Given the description of an element on the screen output the (x, y) to click on. 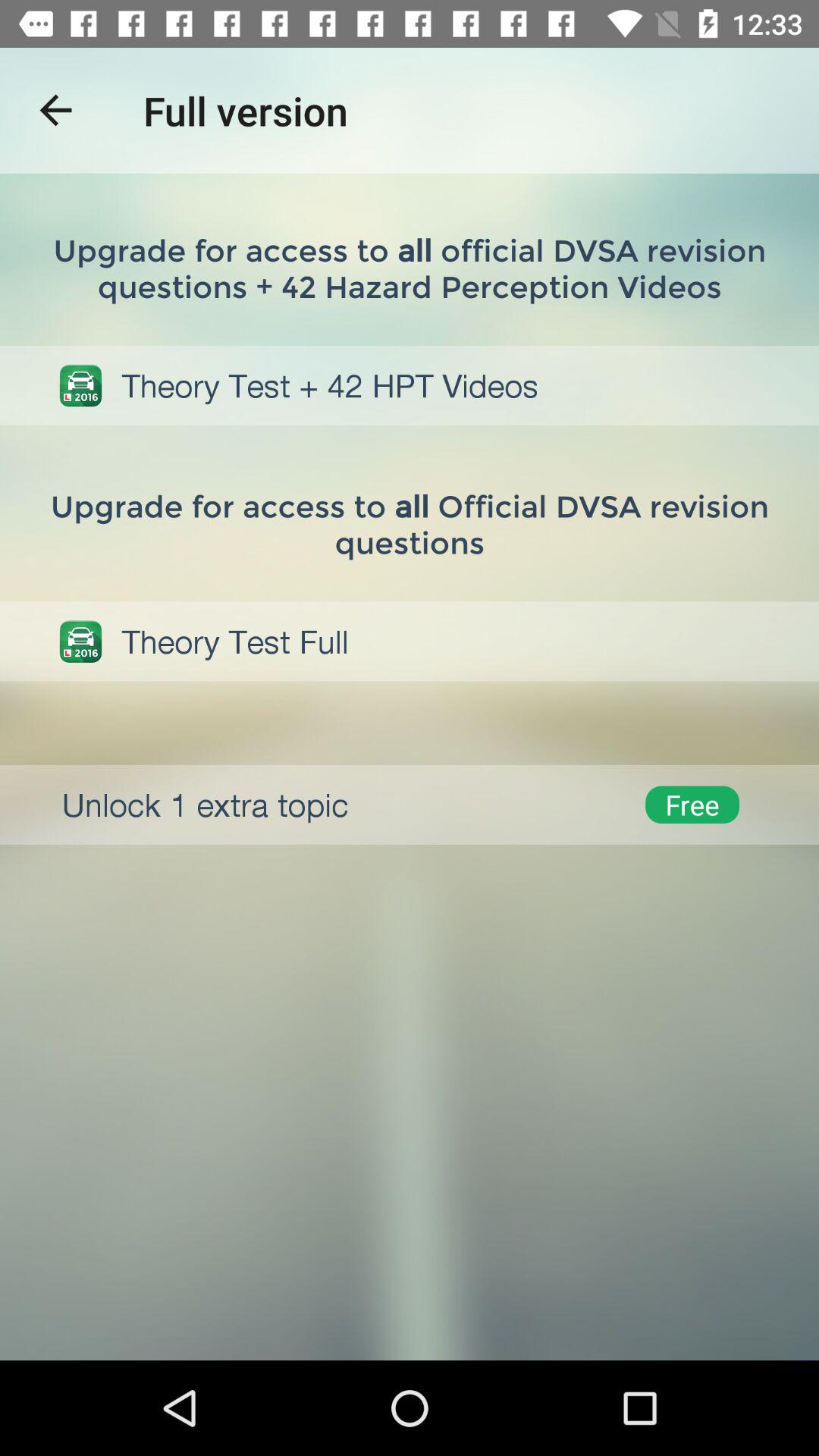
select the item above the upgrade for access icon (55, 110)
